Given the description of an element on the screen output the (x, y) to click on. 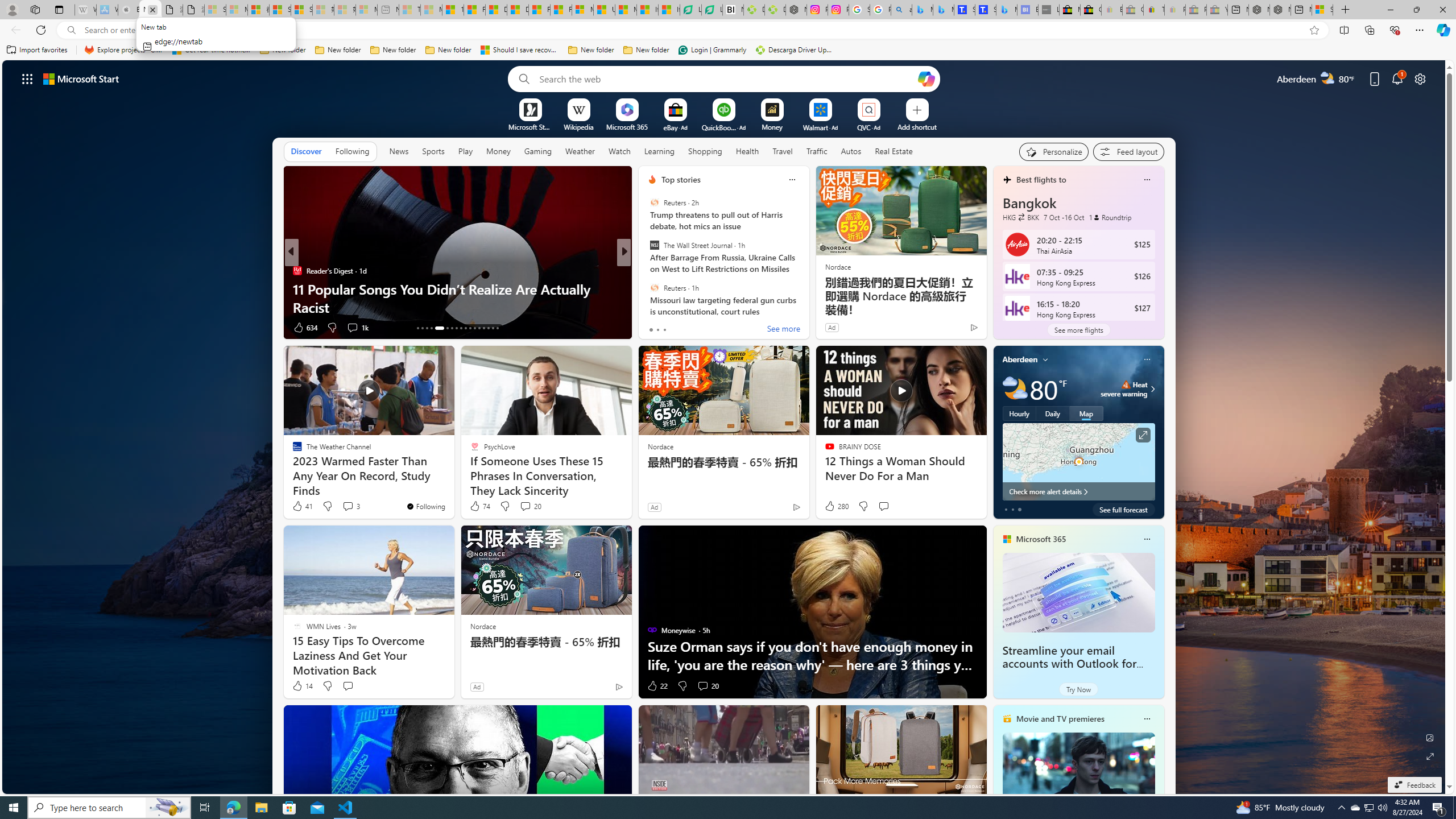
Foo BAR | Trusted Community Engagement and Contributions (561, 9)
New folder (646, 49)
View comments 18 Comment (703, 327)
App launcher (27, 78)
